Given the description of an element on the screen output the (x, y) to click on. 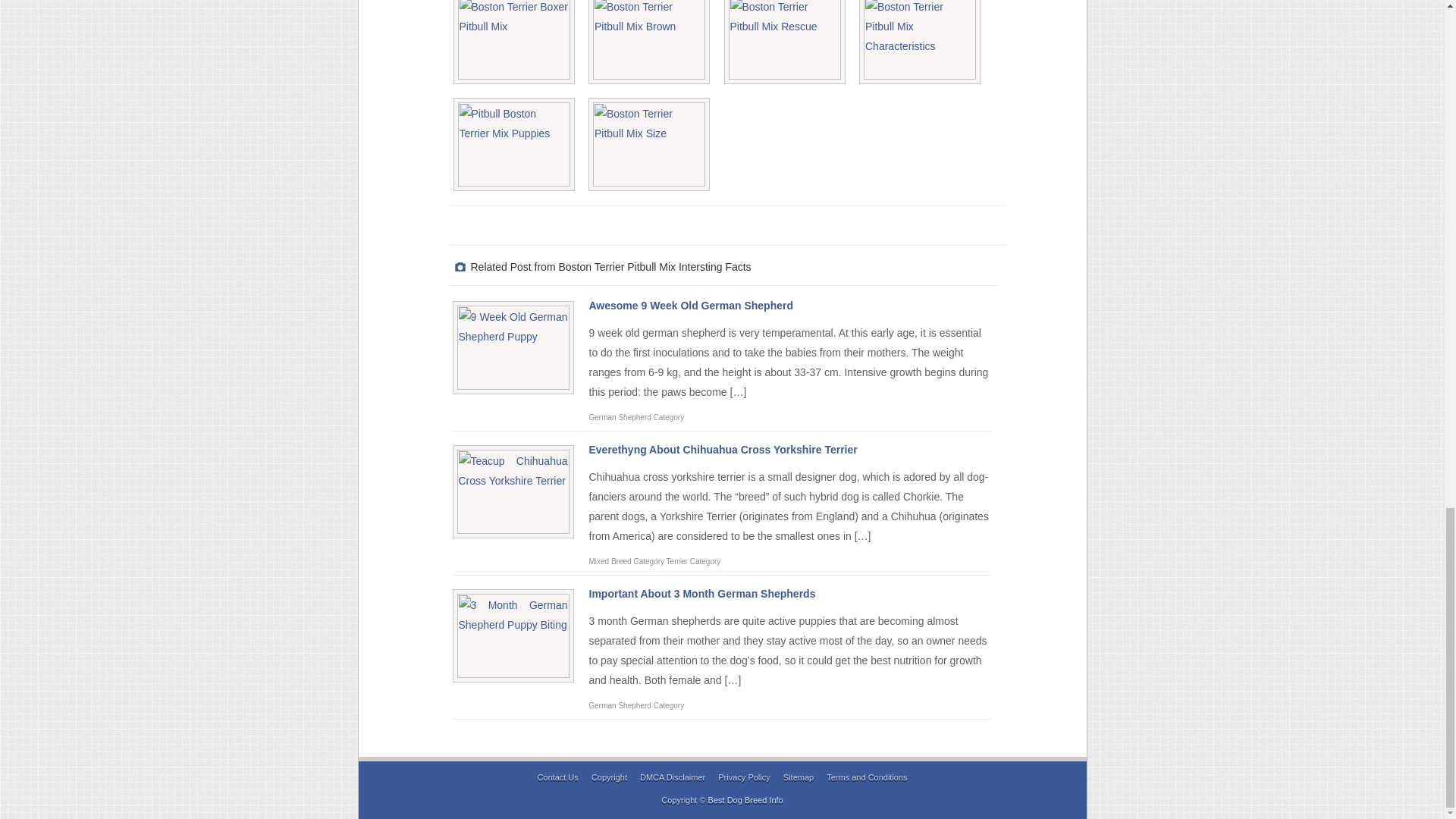
Awesome 9 Week Old German Shepherd (690, 305)
Important About 3 Month German Shepherds (701, 593)
Contact Us (557, 777)
Important About 3 Month German Shepherds (701, 593)
Everethyng About Chihuahua Cross Yorkshire Terrier (722, 449)
Copyright (609, 777)
Everethyng About Chihuahua Cross Yorkshire Terrier (722, 449)
Awesome 9 Week Old German Shepherd (690, 305)
DMCA Disclaimer (672, 777)
